Given the description of an element on the screen output the (x, y) to click on. 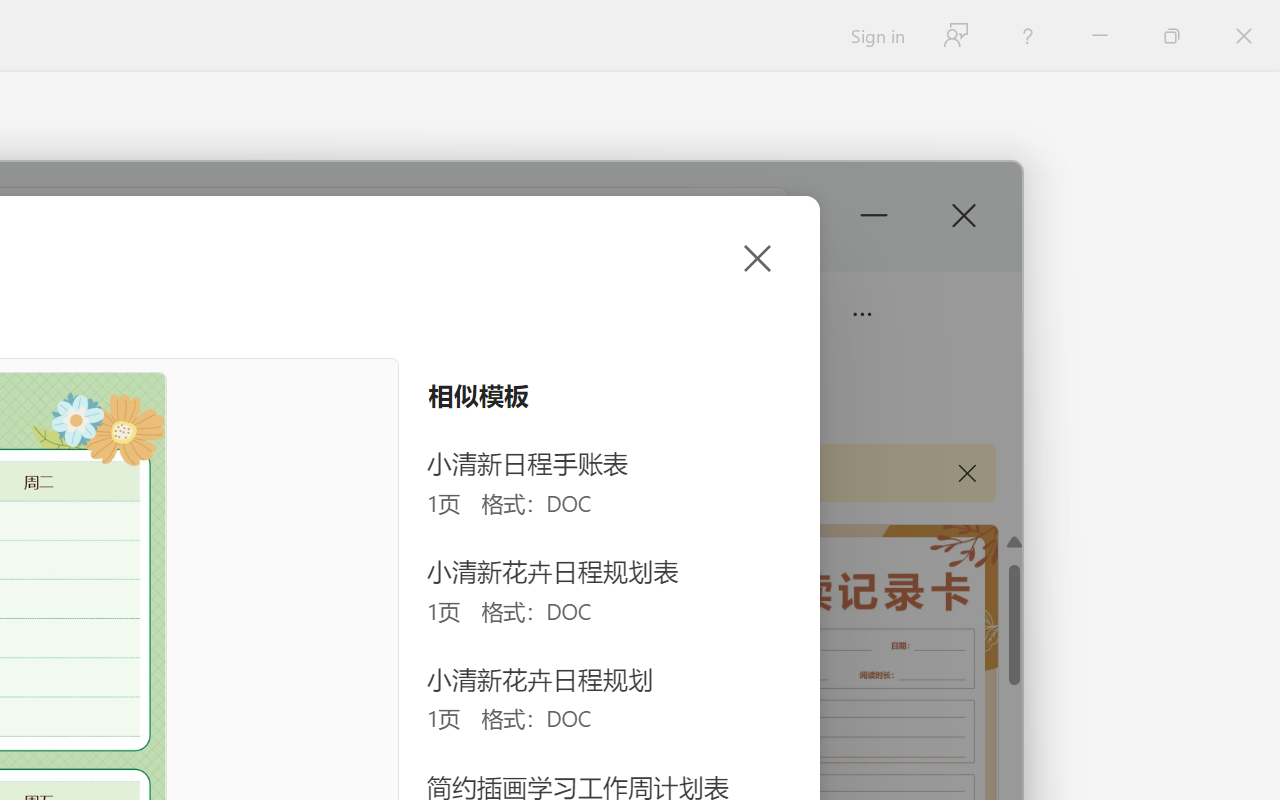
Sign in (875, 35)
